Given the description of an element on the screen output the (x, y) to click on. 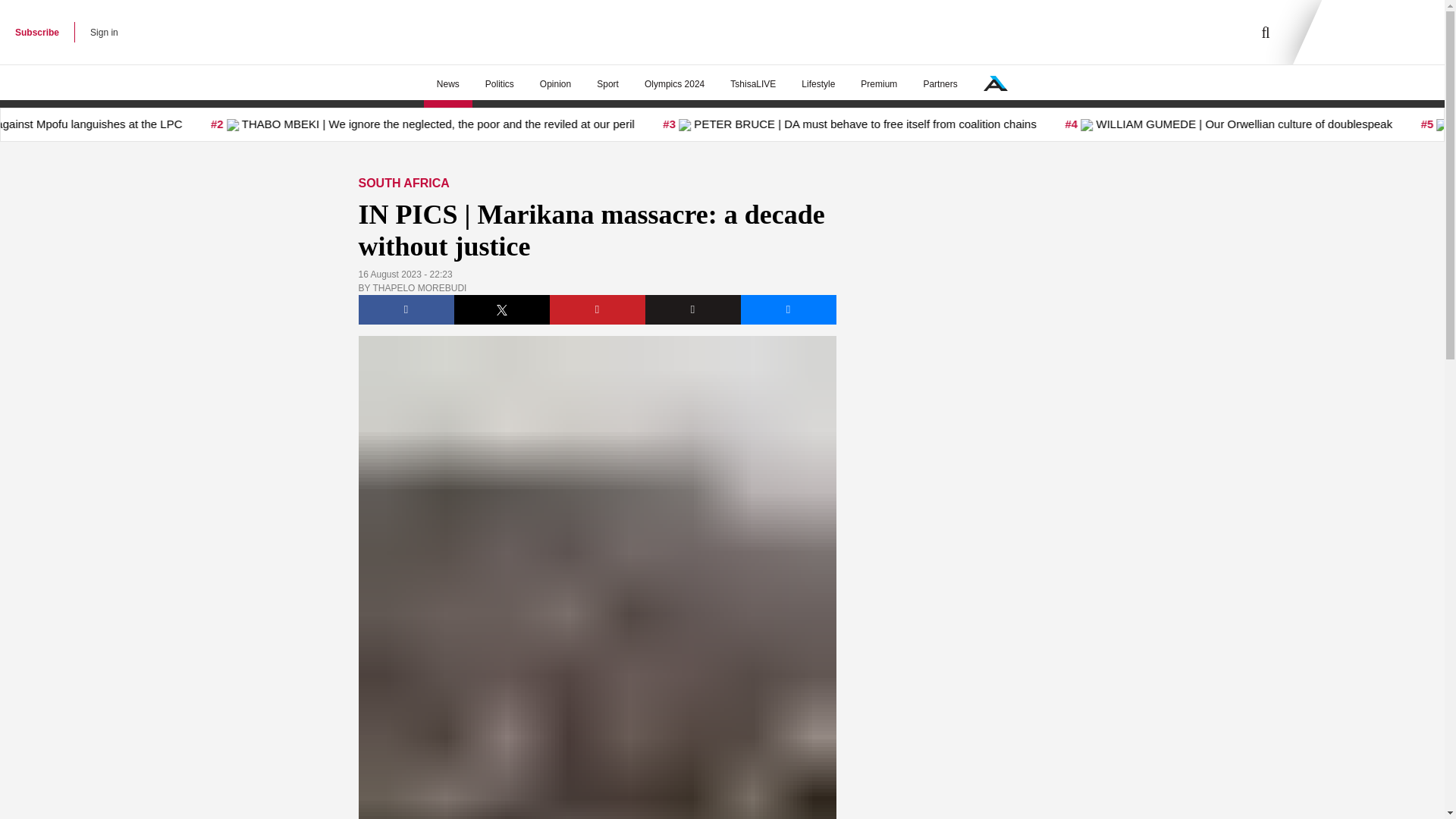
Subscribe (36, 32)
Sport (607, 84)
Partners (939, 84)
Sign in (103, 32)
Premium (878, 84)
Olympics 2024 (674, 84)
Opinion (555, 84)
News (447, 84)
Lifestyle (818, 84)
TshisaLIVE (753, 84)
